Given the description of an element on the screen output the (x, y) to click on. 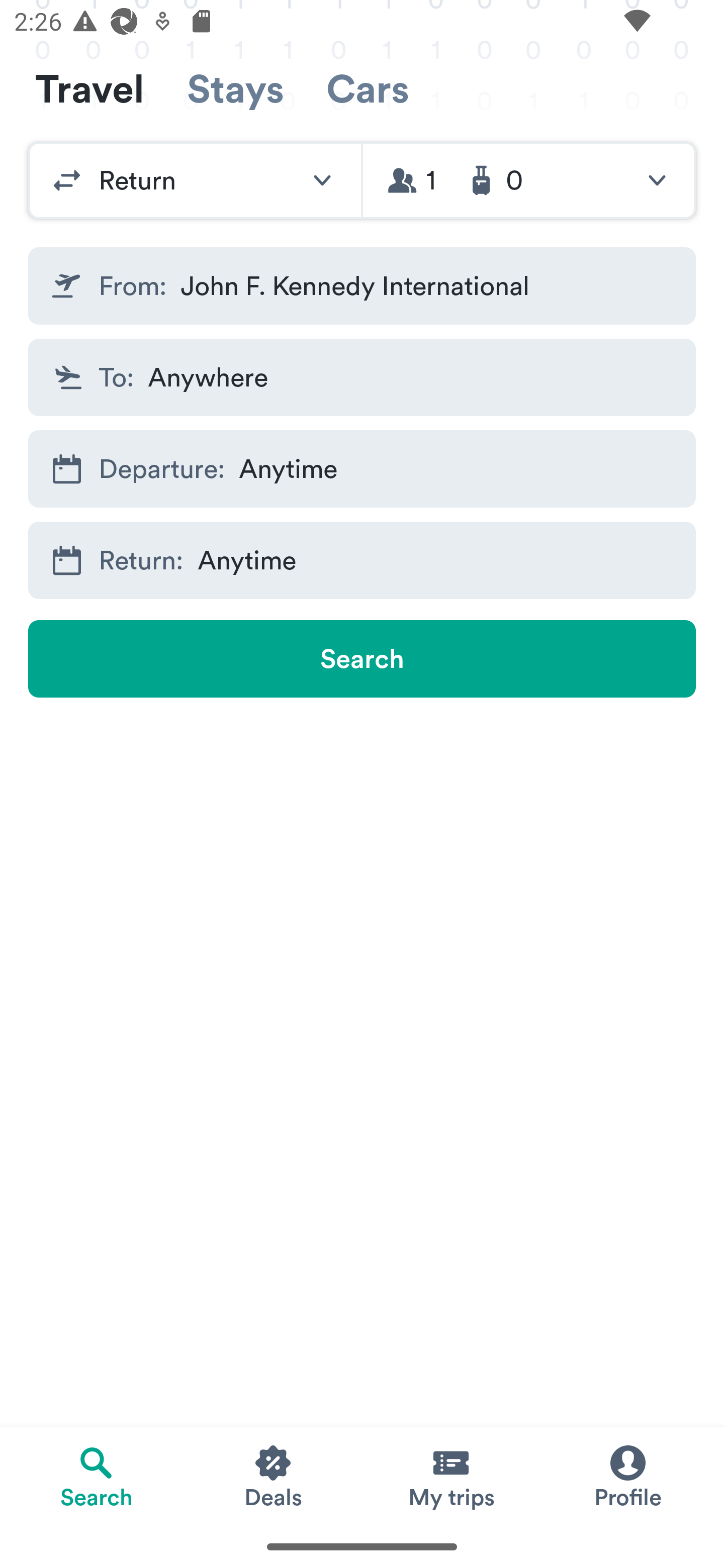
Travel (89, 89)
Stays (235, 89)
Cars (367, 89)
Return (194, 179)
Passengers 1 Bags 0 (528, 179)
From: John F. Kennedy International (361, 285)
To: Anywhere (361, 377)
Departure: Anytime (361, 468)
Return: Anytime (361, 559)
Search (361, 658)
Deals (273, 1475)
My trips (450, 1475)
Profile (627, 1475)
